Given the description of an element on the screen output the (x, y) to click on. 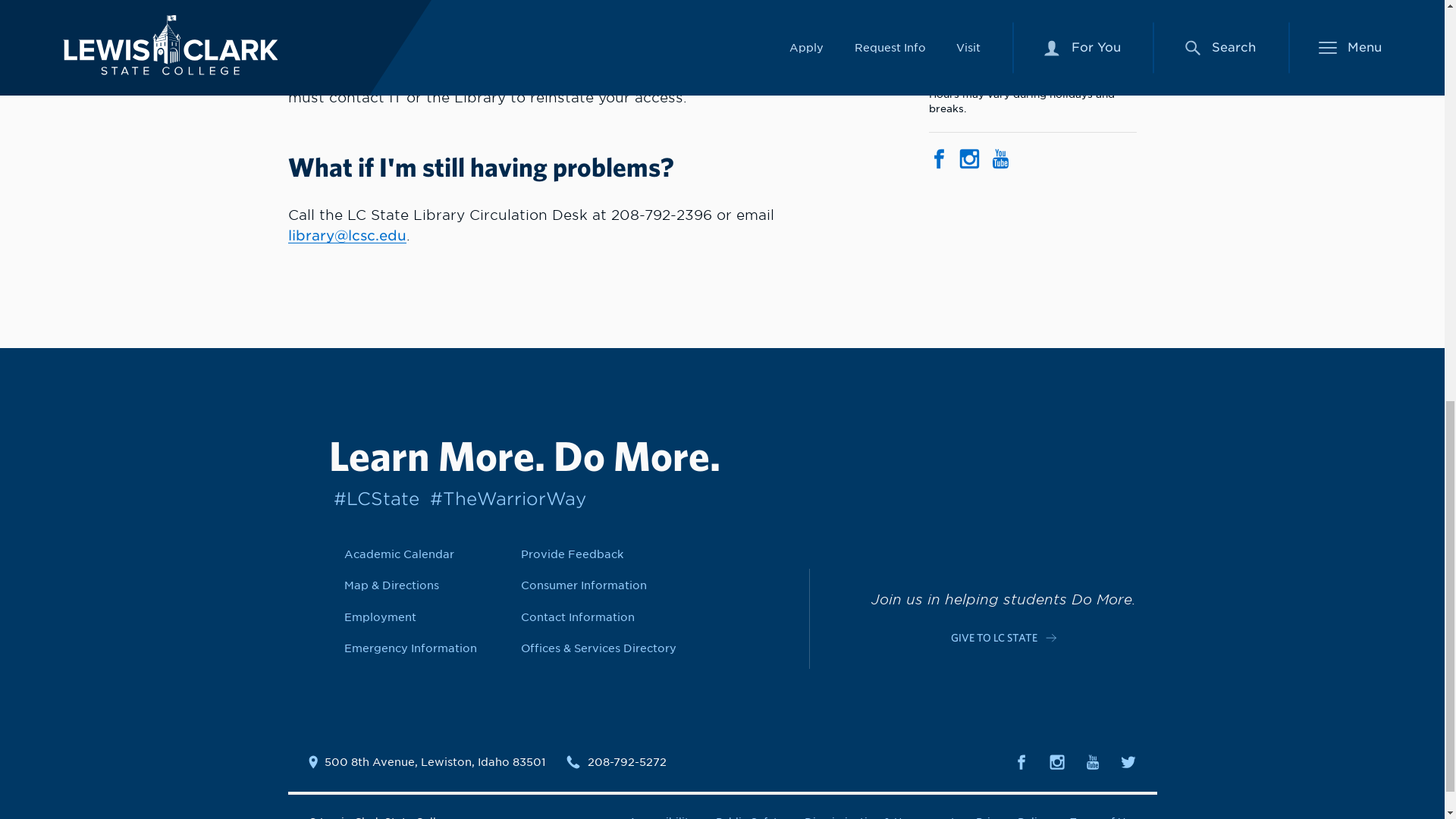
ARROW-RIGHT--LINE (1051, 637)
twitter--solid (1128, 761)
youtube--solid (1092, 761)
facebook--solid (1020, 761)
instagram--solid (1056, 761)
calls--solid (572, 762)
